Given the description of an element on the screen output the (x, y) to click on. 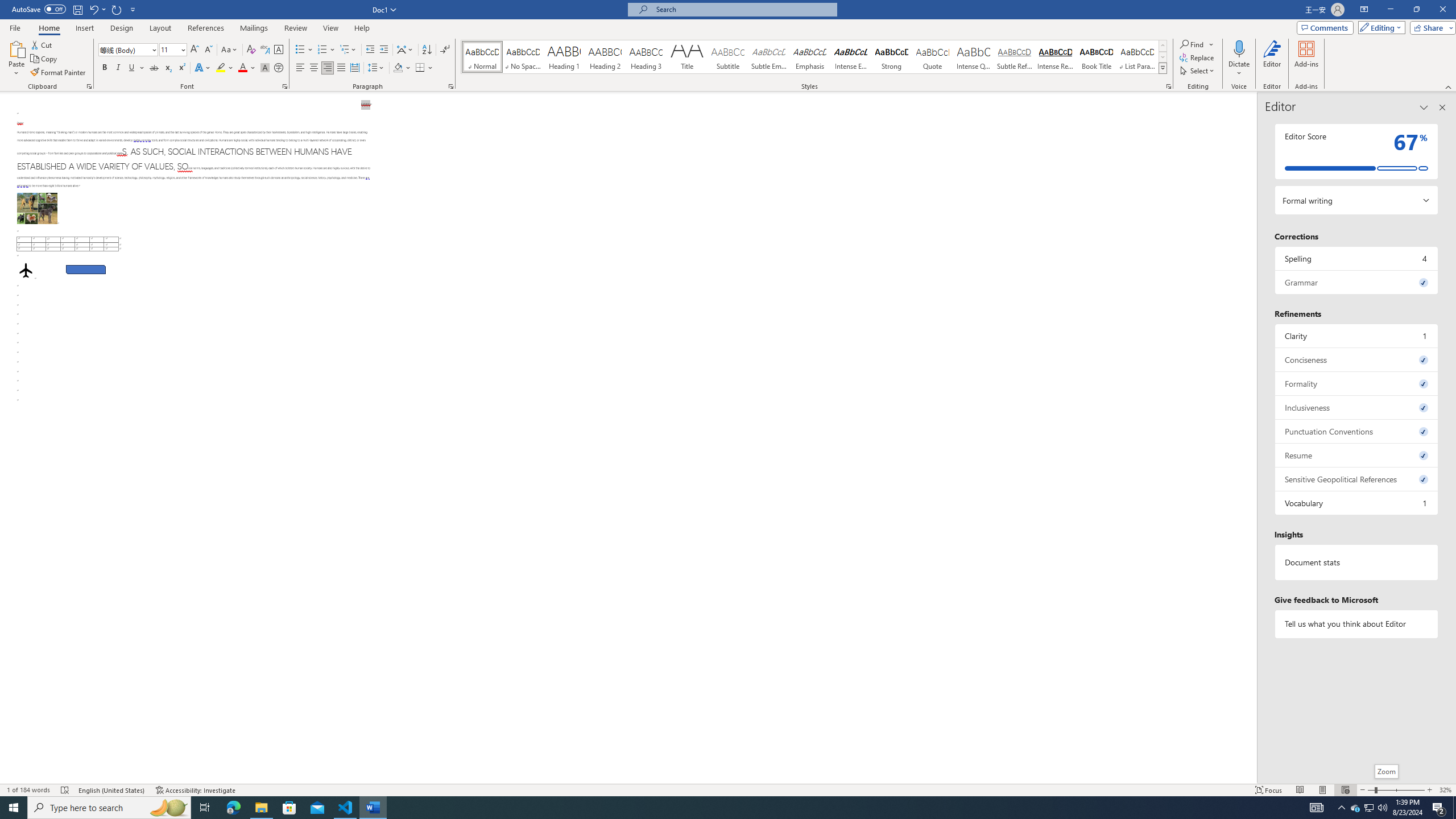
Subtle Reference (1014, 56)
